Given the description of an element on the screen output the (x, y) to click on. 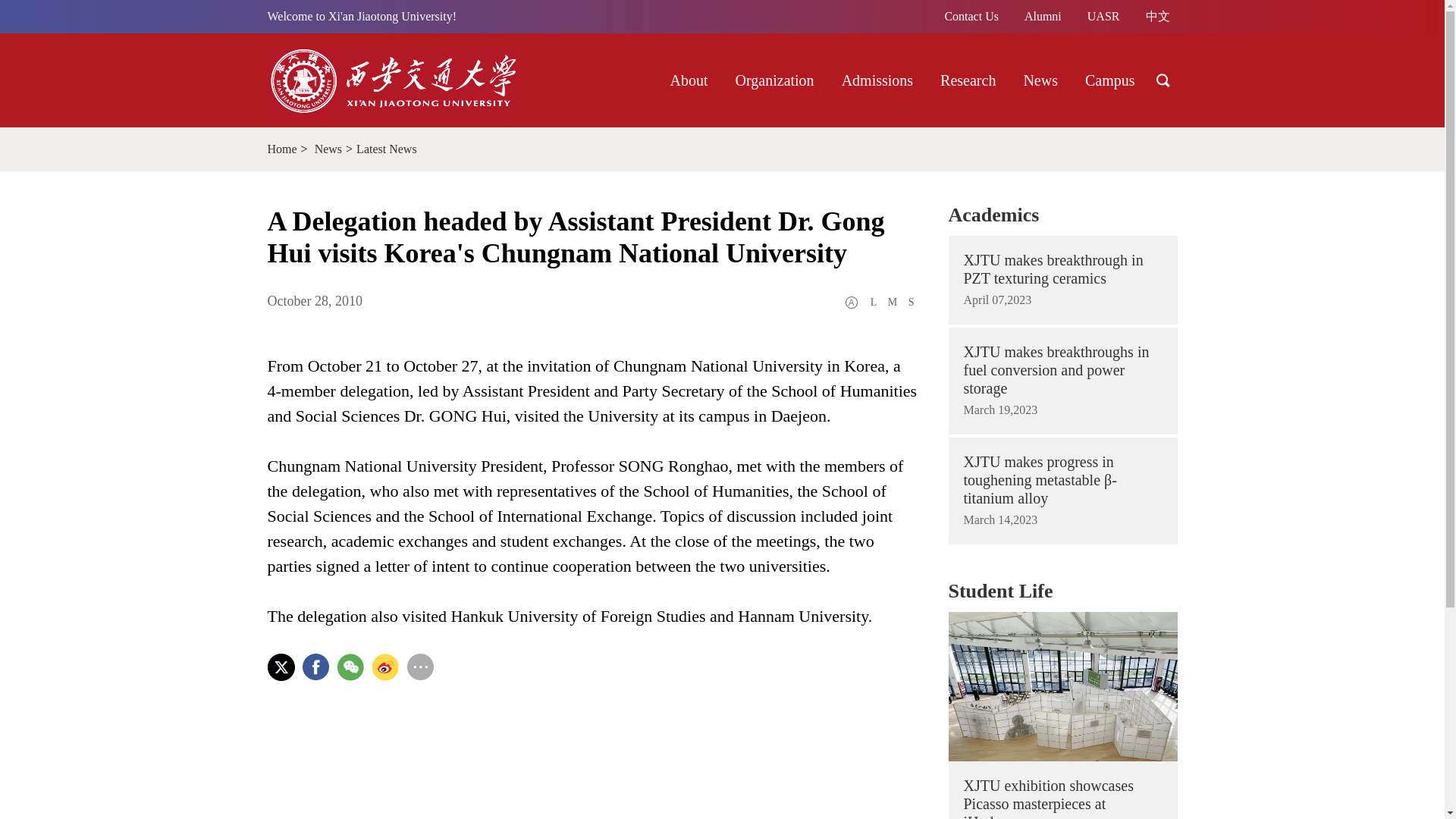
Organization (775, 80)
News (1040, 80)
About (689, 80)
Alumni (1042, 16)
Research (967, 80)
Contact Us (971, 16)
Campus (1109, 80)
UASR (1103, 16)
Admissions (877, 80)
